Given the description of an element on the screen output the (x, y) to click on. 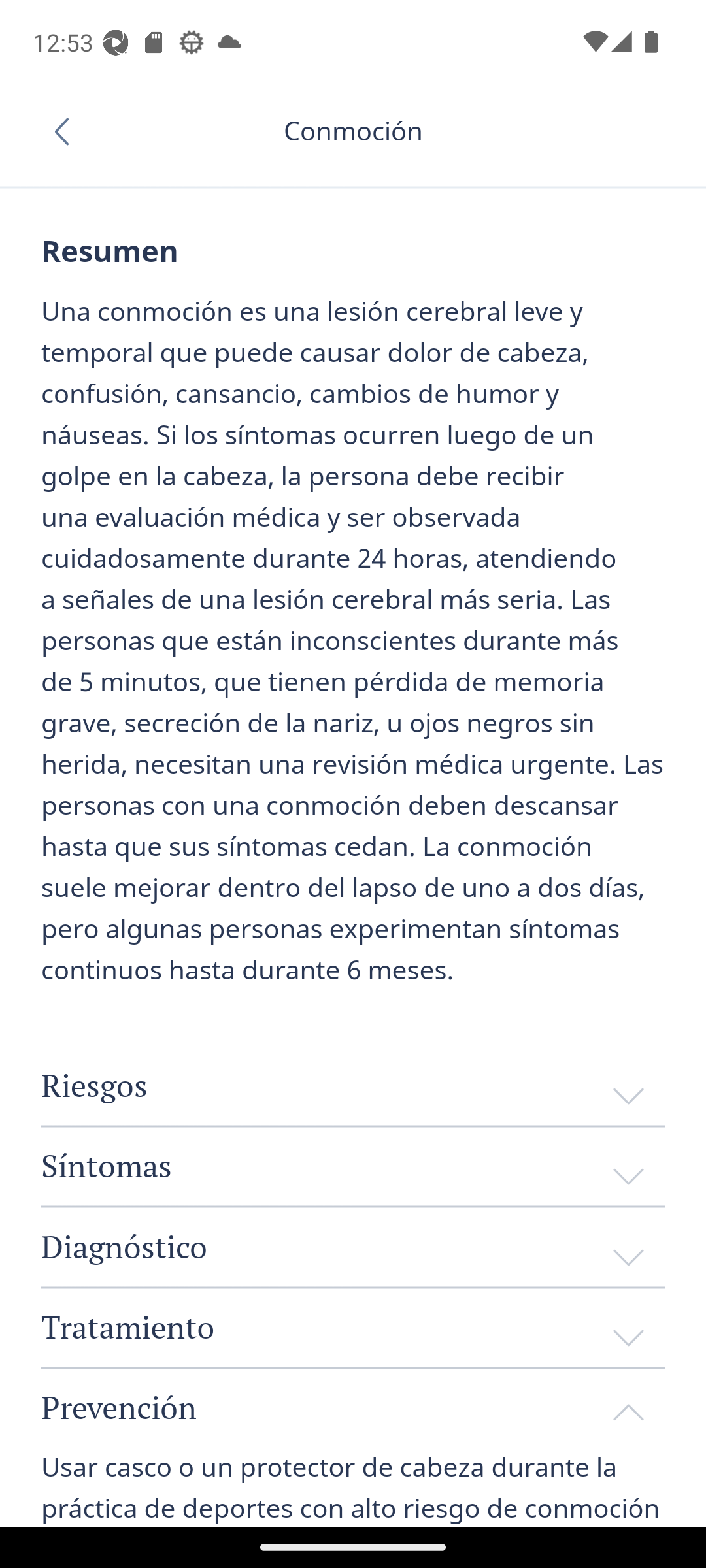
Go back, Navigates to the previous screen (68, 131)
Riesgos  (352, 1085)
Síntomas  (352, 1164)
Diagnóstico  (352, 1246)
Tratamiento  (352, 1326)
Prevención  (352, 1406)
